Given the description of an element on the screen output the (x, y) to click on. 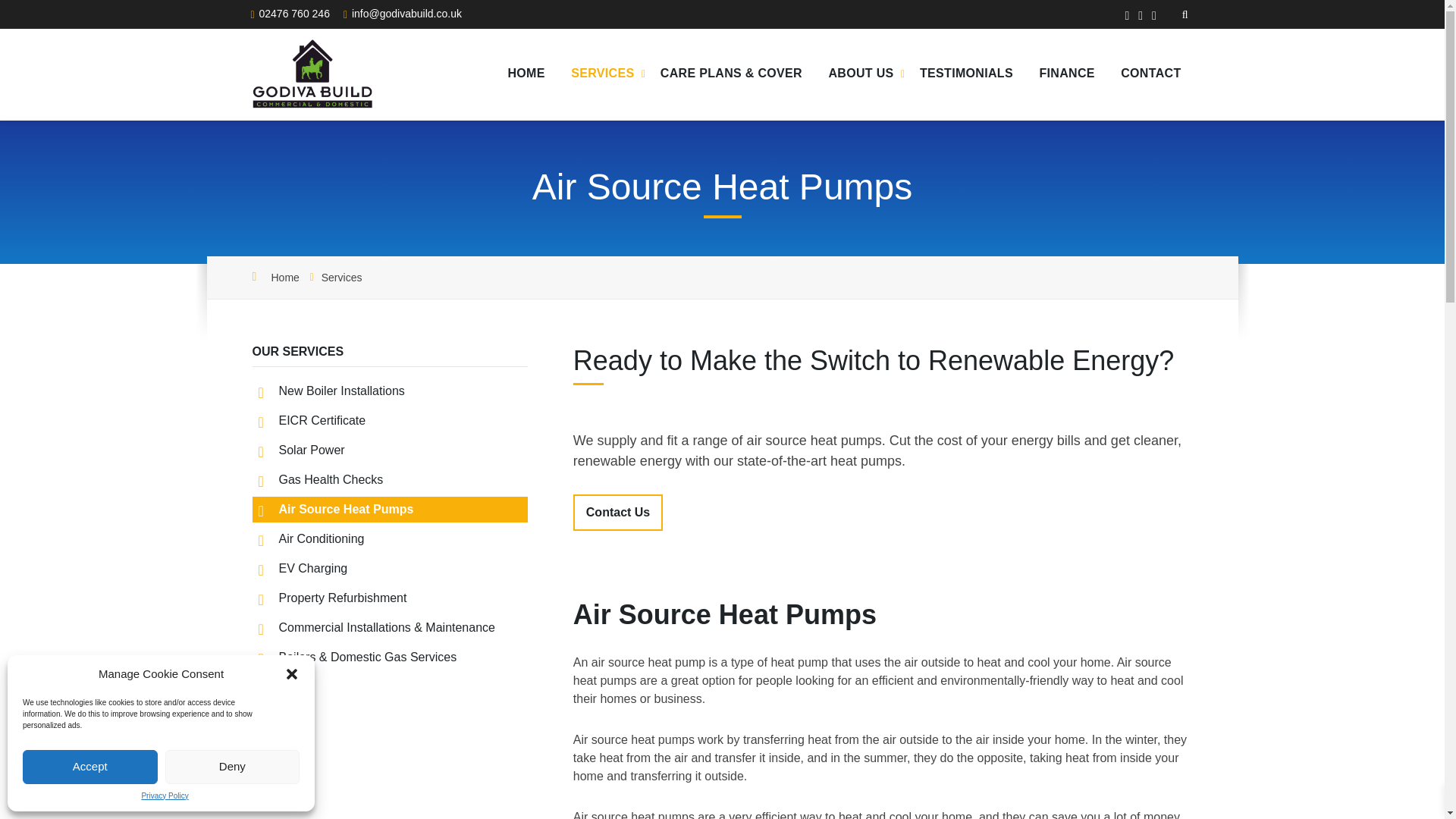
ABOUT US (860, 73)
TESTIMONIALS (966, 73)
Accept (90, 765)
Privacy Policy (164, 795)
HOME (526, 73)
02476 760 246 (294, 13)
SERVICES (602, 73)
Deny (232, 765)
